Given the description of an element on the screen output the (x, y) to click on. 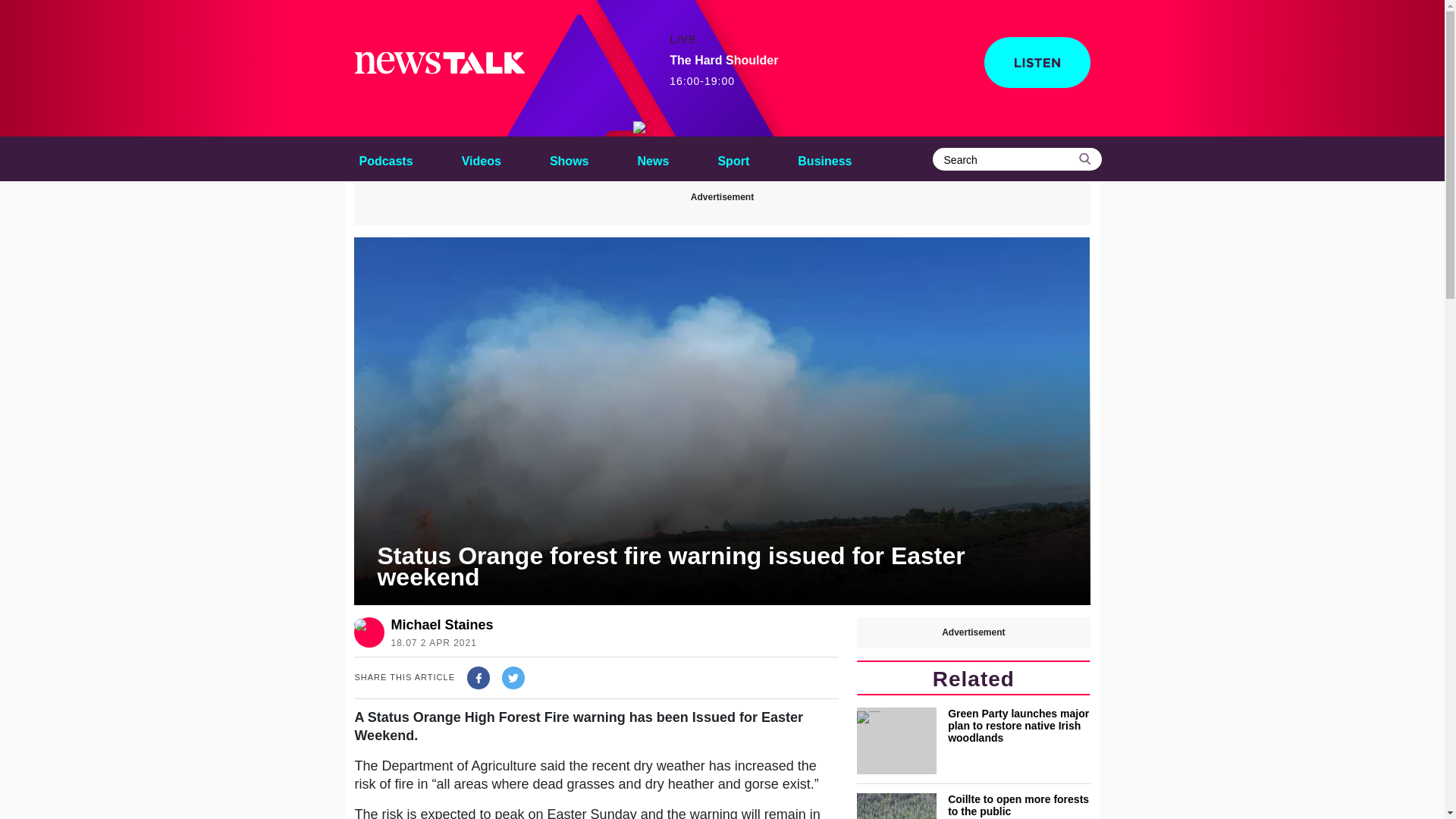
Podcasts (384, 158)
Michael Staines (441, 624)
Podcasts (384, 158)
Sport (733, 158)
Videos (481, 158)
News (653, 158)
Shows (569, 158)
Shows (723, 70)
